Given the description of an element on the screen output the (x, y) to click on. 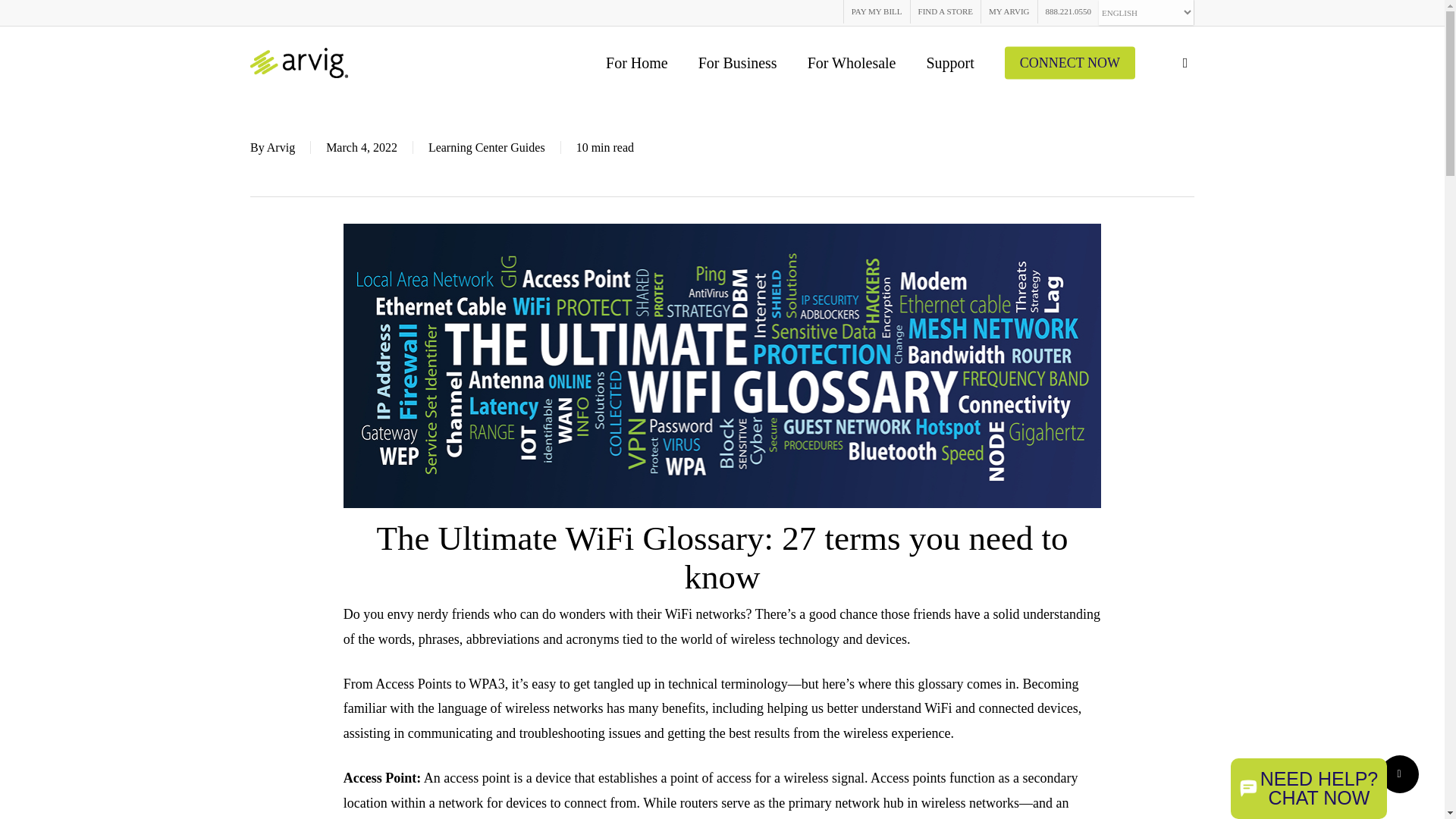
888.221.0550 (1067, 11)
MY ARVIG (1007, 11)
FIND A STORE (945, 11)
Posts by Arvig (280, 146)
For Wholesale (852, 62)
PAY MY BILL (876, 11)
For Business (737, 62)
Support (950, 62)
For Home (636, 62)
